Given the description of an element on the screen output the (x, y) to click on. 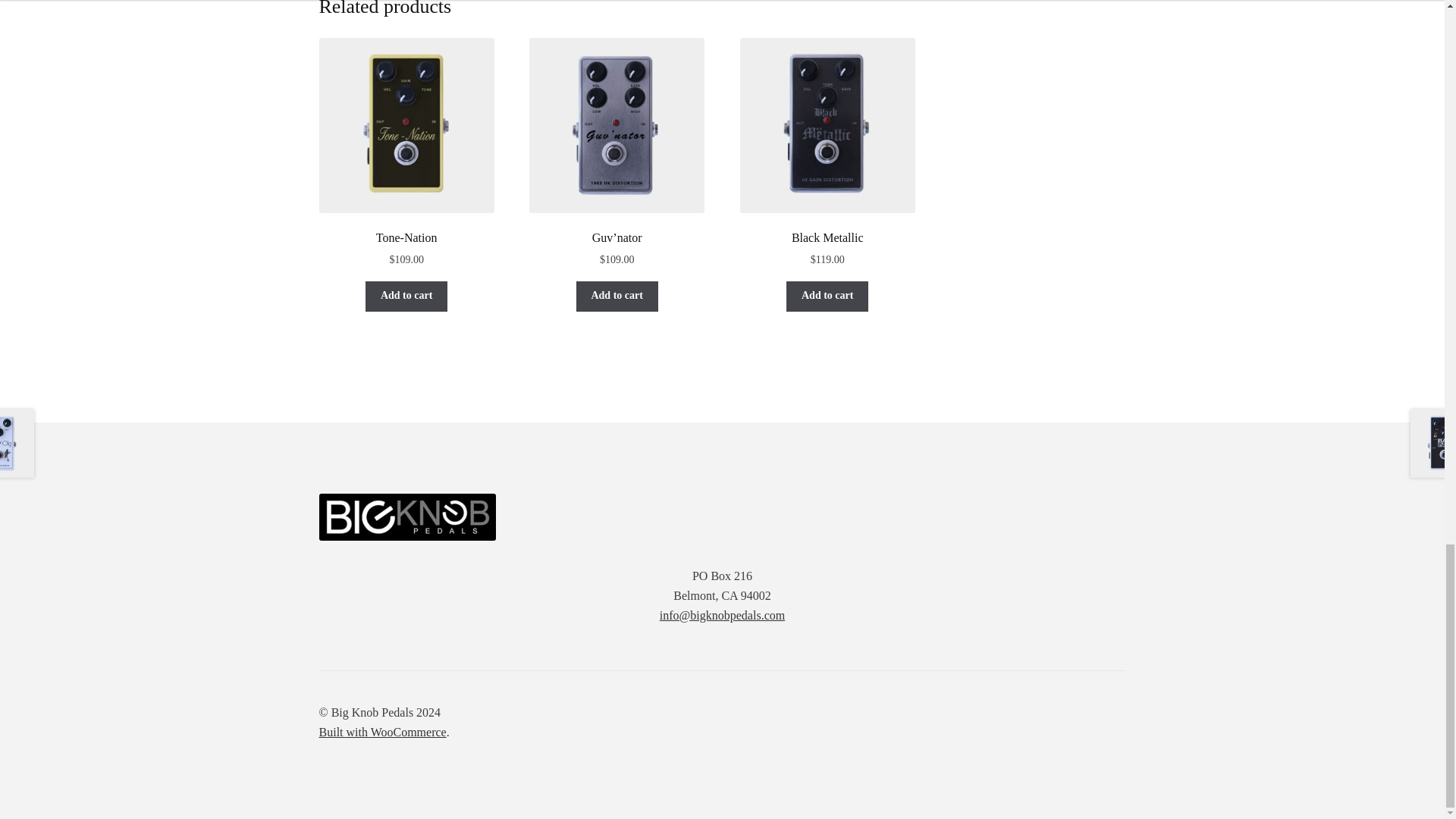
Add to cart (617, 296)
Add to cart (826, 296)
WooCommerce - The Best eCommerce Platform for WordPress (382, 731)
Add to cart (405, 296)
